Given the description of an element on the screen output the (x, y) to click on. 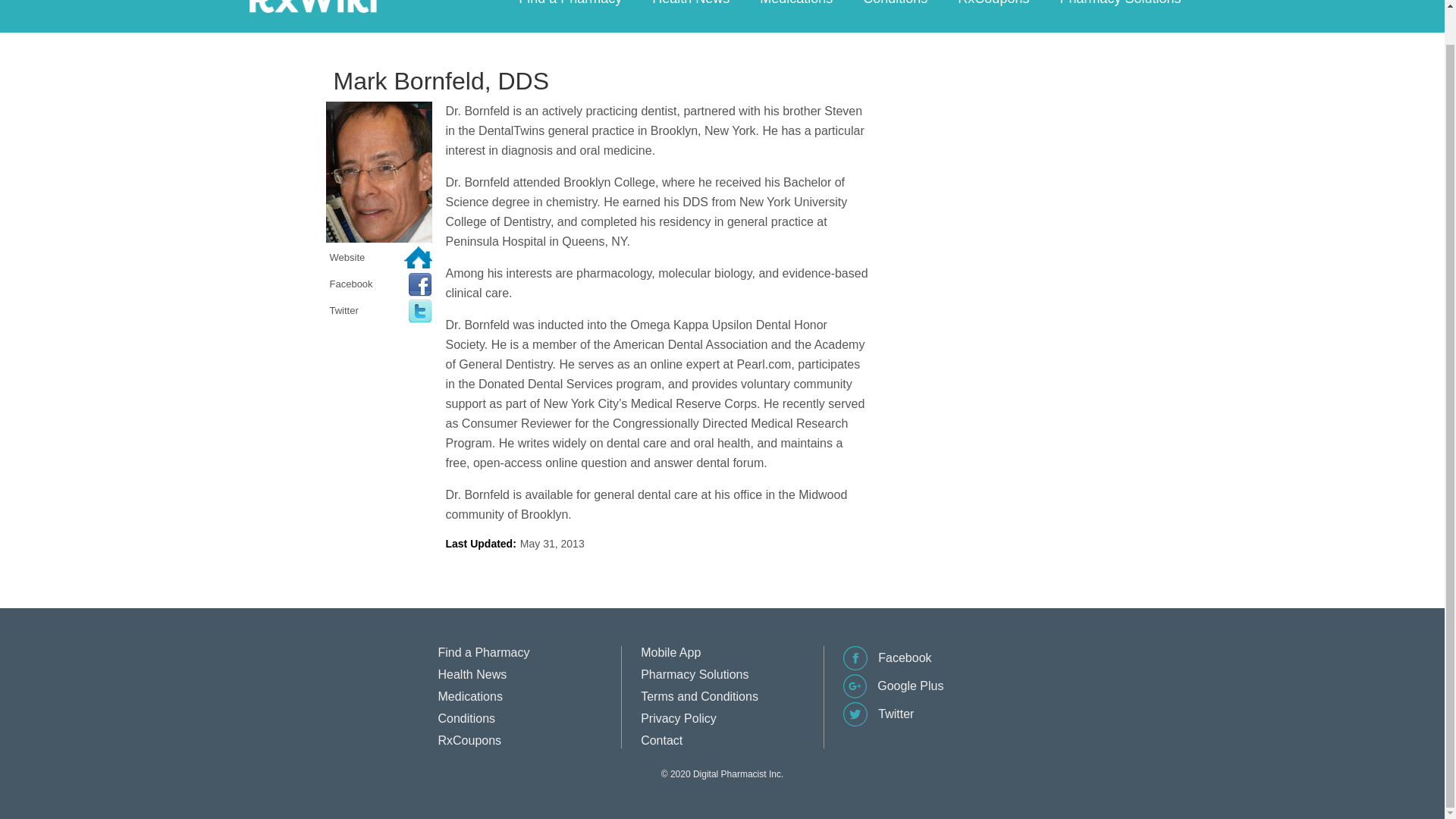
Facebook (887, 666)
Conditions (894, 4)
Find a Pharmacy (483, 652)
Conditions (467, 717)
Twitter (878, 721)
Terms and Conditions (699, 696)
Medications (795, 4)
Medications (470, 696)
Pharmacy Solutions (694, 674)
Pharmacy Solutions (1119, 4)
